Given the description of an element on the screen output the (x, y) to click on. 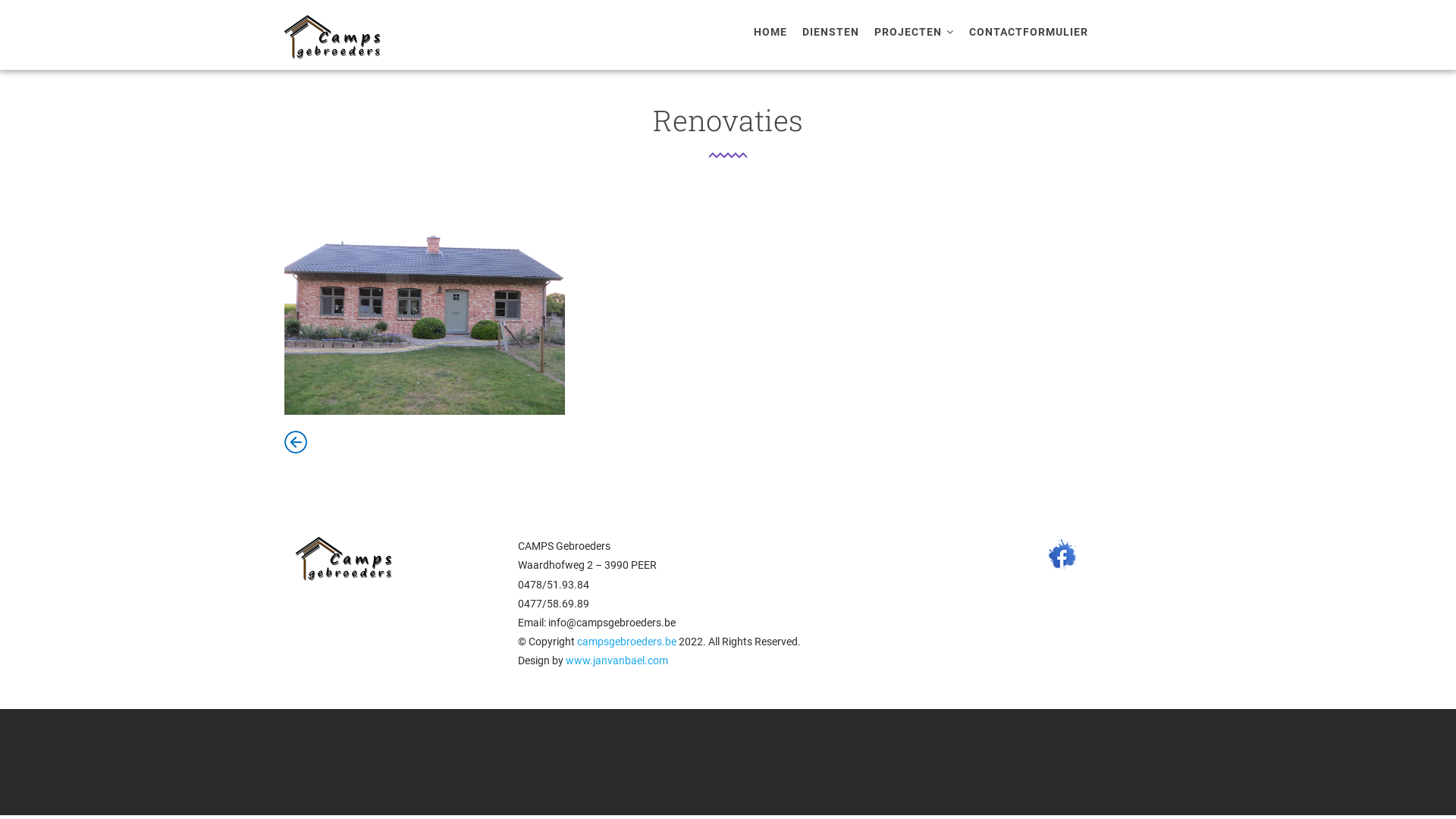
www.janvanbael.com Element type: text (616, 660)
DIENSTEN Element type: text (830, 32)
CONTACTFORMULIER Element type: text (1028, 32)
PROJECTEN Element type: text (913, 32)
HOME Element type: text (770, 32)
Home Element type: hover (338, 34)
Overslaan en naar de inhoud gaan Element type: text (0, 0)
campsgebroeders.be Element type: text (625, 641)
